Given the description of an element on the screen output the (x, y) to click on. 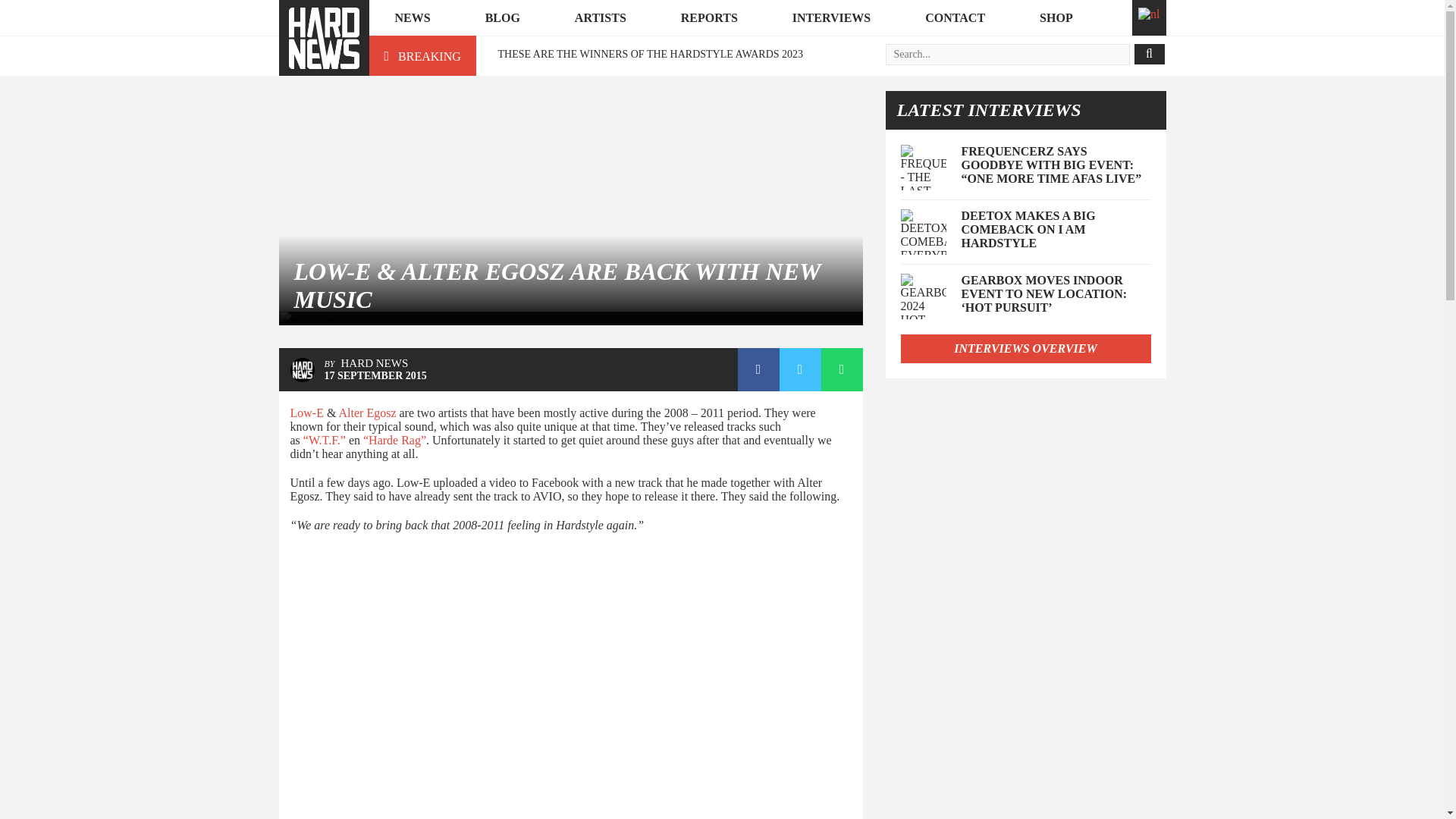
SHOP (1056, 18)
REPORTS (708, 18)
BLOG (503, 18)
Low-E (306, 412)
INTERVIEWS OVERVIEW (1026, 348)
CONTACT (954, 18)
INTERVIEWS (831, 18)
ARTISTS (600, 18)
THESE ARE THE WINNERS OF THE HARDSTYLE AWARDS 2023 (650, 53)
NEWS (411, 18)
